Given the description of an element on the screen output the (x, y) to click on. 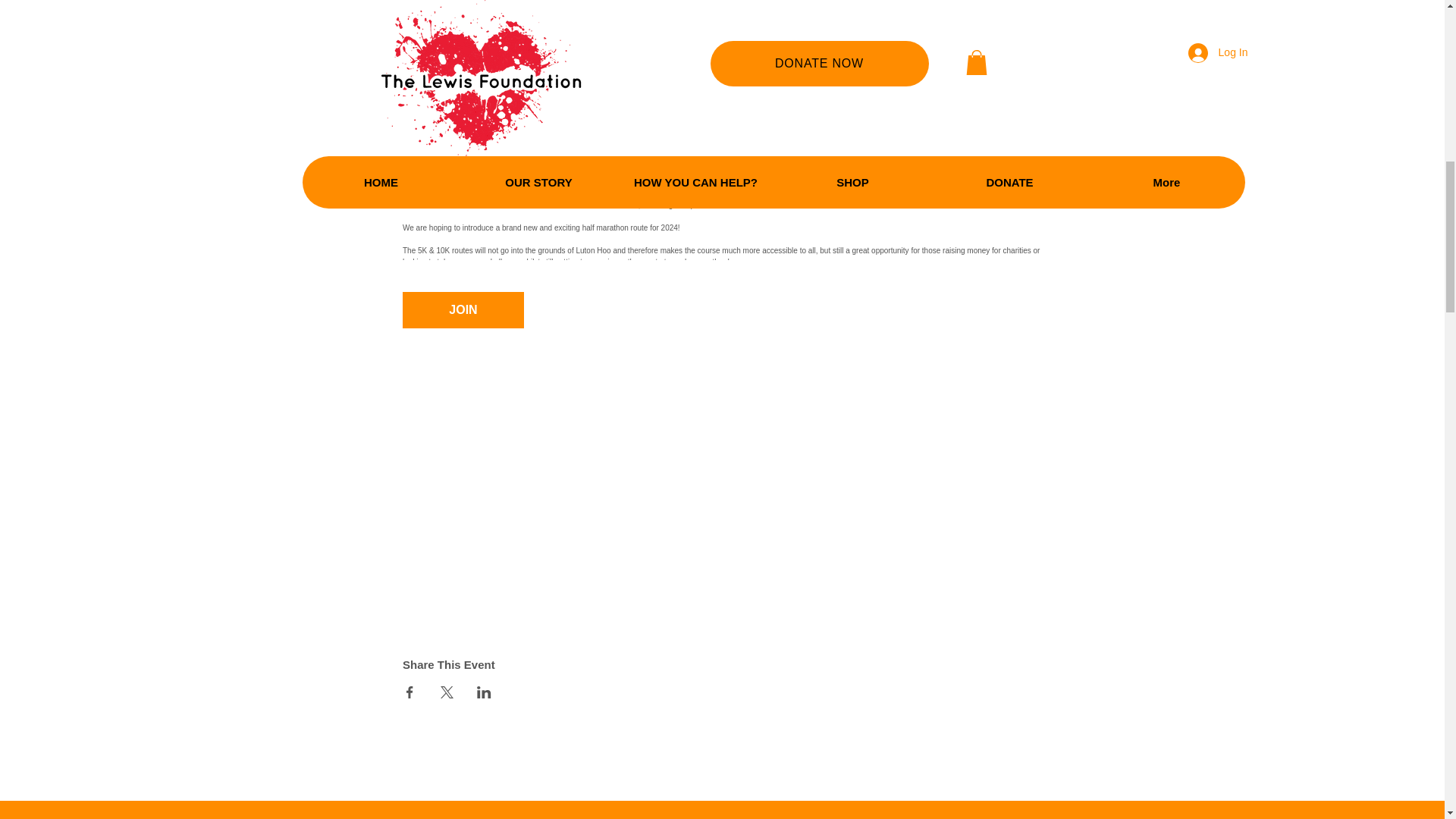
Love Luton (422, 182)
JOIN (463, 309)
